Given the description of an element on the screen output the (x, y) to click on. 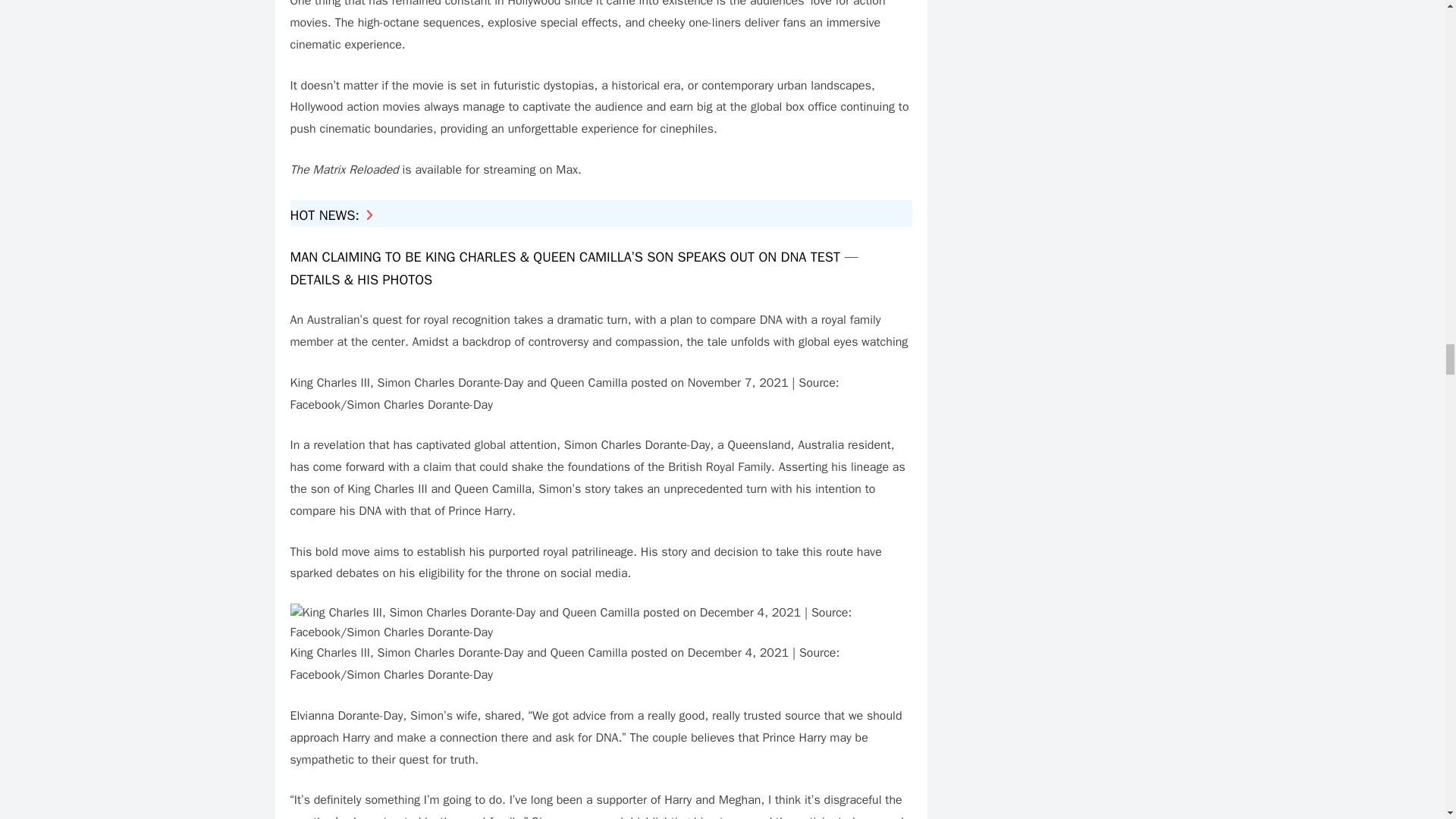
HOT NEWS: (330, 215)
